Given the description of an element on the screen output the (x, y) to click on. 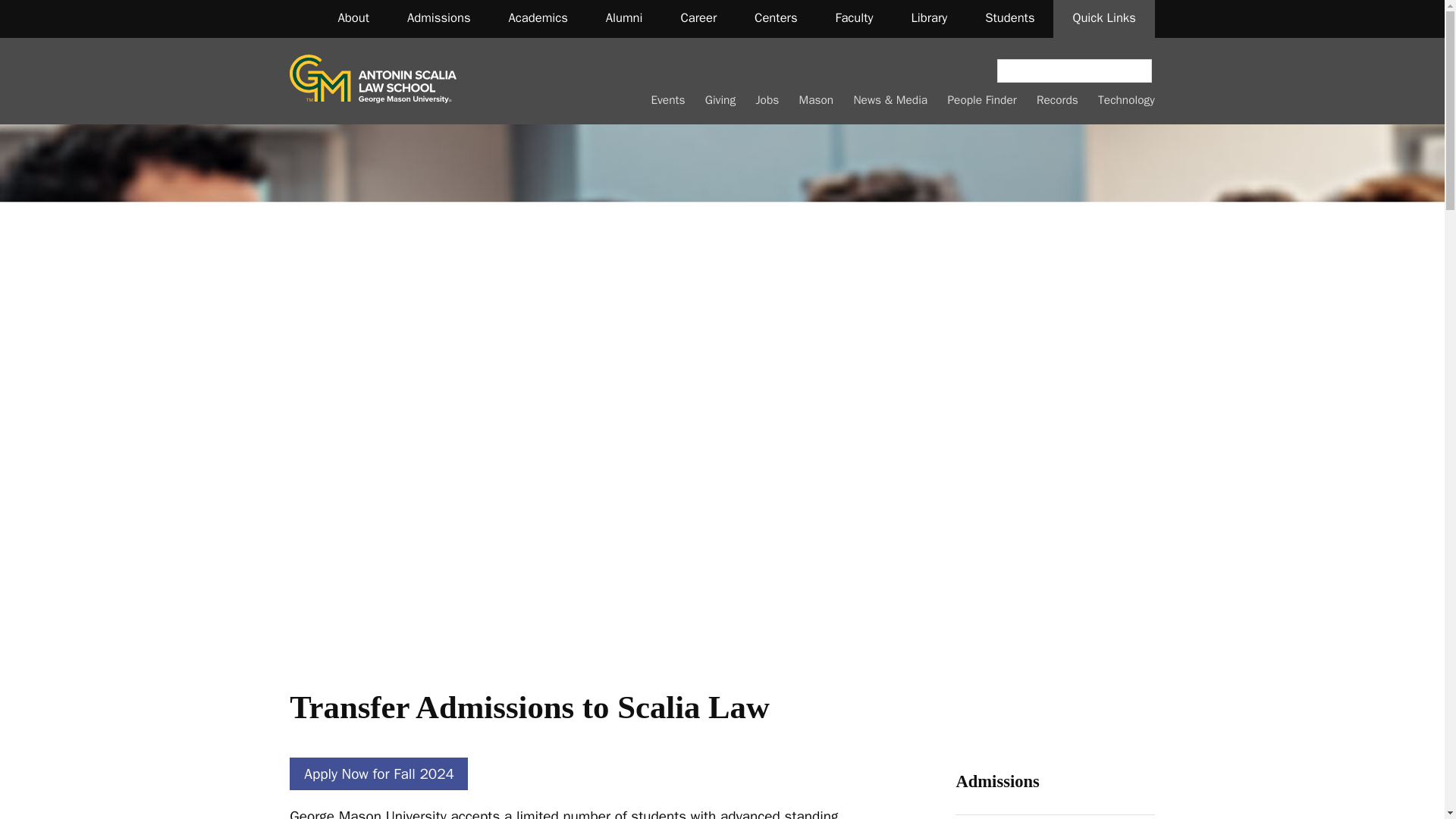
Admissions (438, 18)
Admissions (997, 781)
Academics (537, 18)
About (353, 18)
Apply Now for Fall 2024 (378, 773)
